Given the description of an element on the screen output the (x, y) to click on. 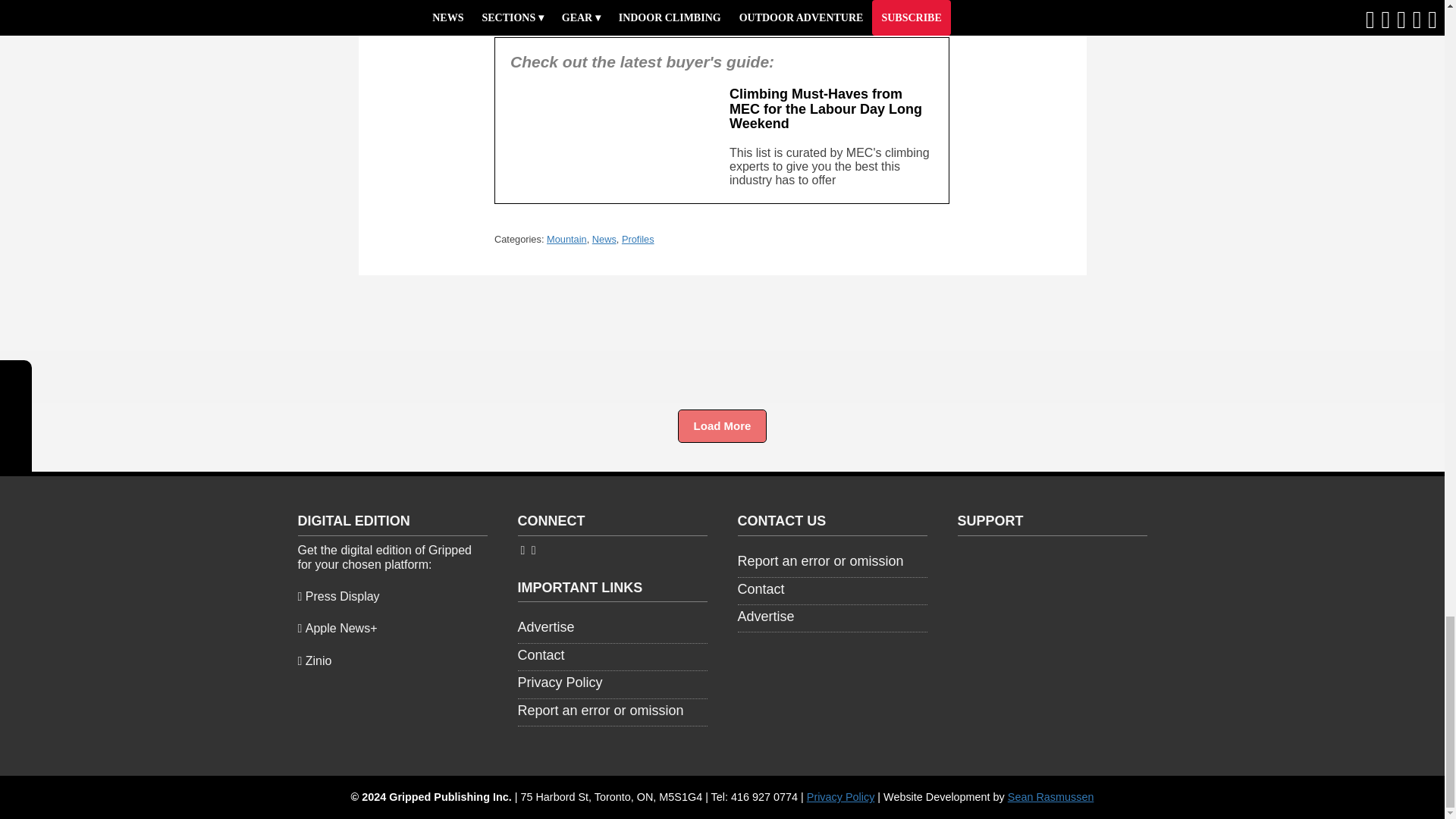
News (603, 238)
Profiles (637, 238)
Mountain (566, 238)
Climbing Must-Haves from MEC for the Labour Day Long Weekend (825, 108)
Ontario Creates website (1051, 590)
Load More (722, 426)
